Given the description of an element on the screen output the (x, y) to click on. 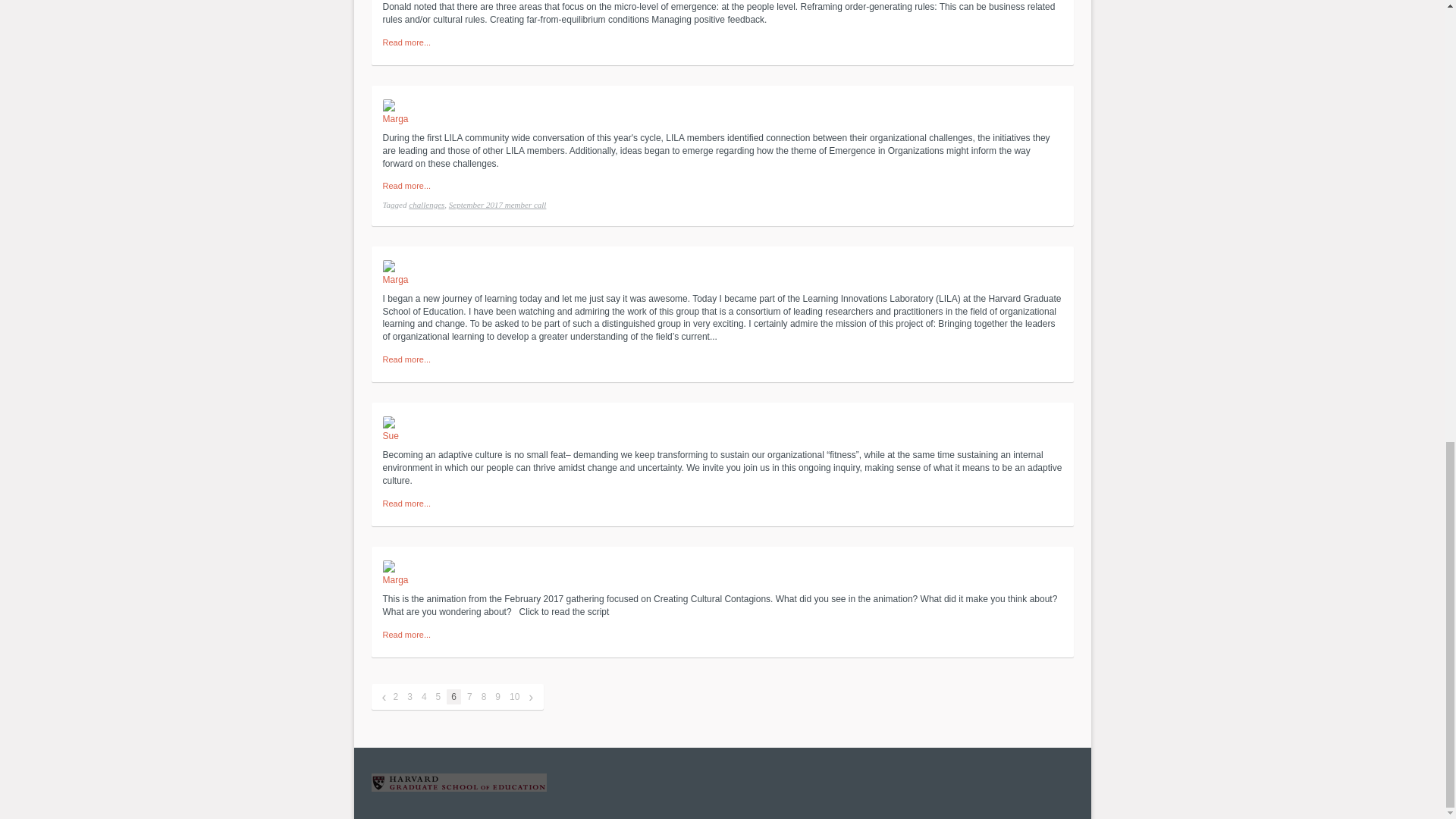
Read more... (405, 41)
Read more... (405, 185)
challenges (426, 204)
